Given the description of an element on the screen output the (x, y) to click on. 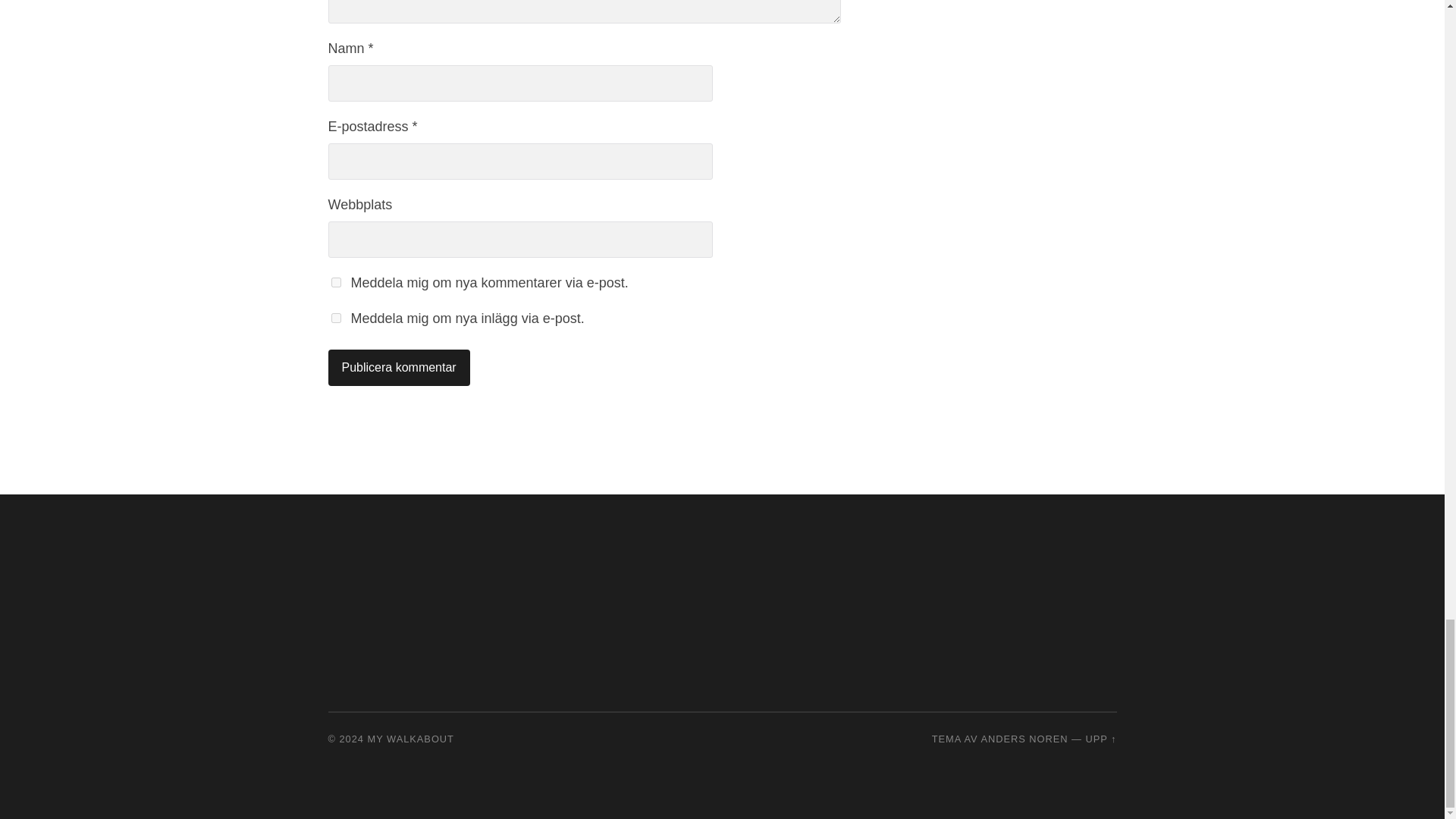
subscribe (335, 282)
Publicera kommentar (397, 367)
subscribe (335, 317)
Till toppen (1100, 738)
